Given the description of an element on the screen output the (x, y) to click on. 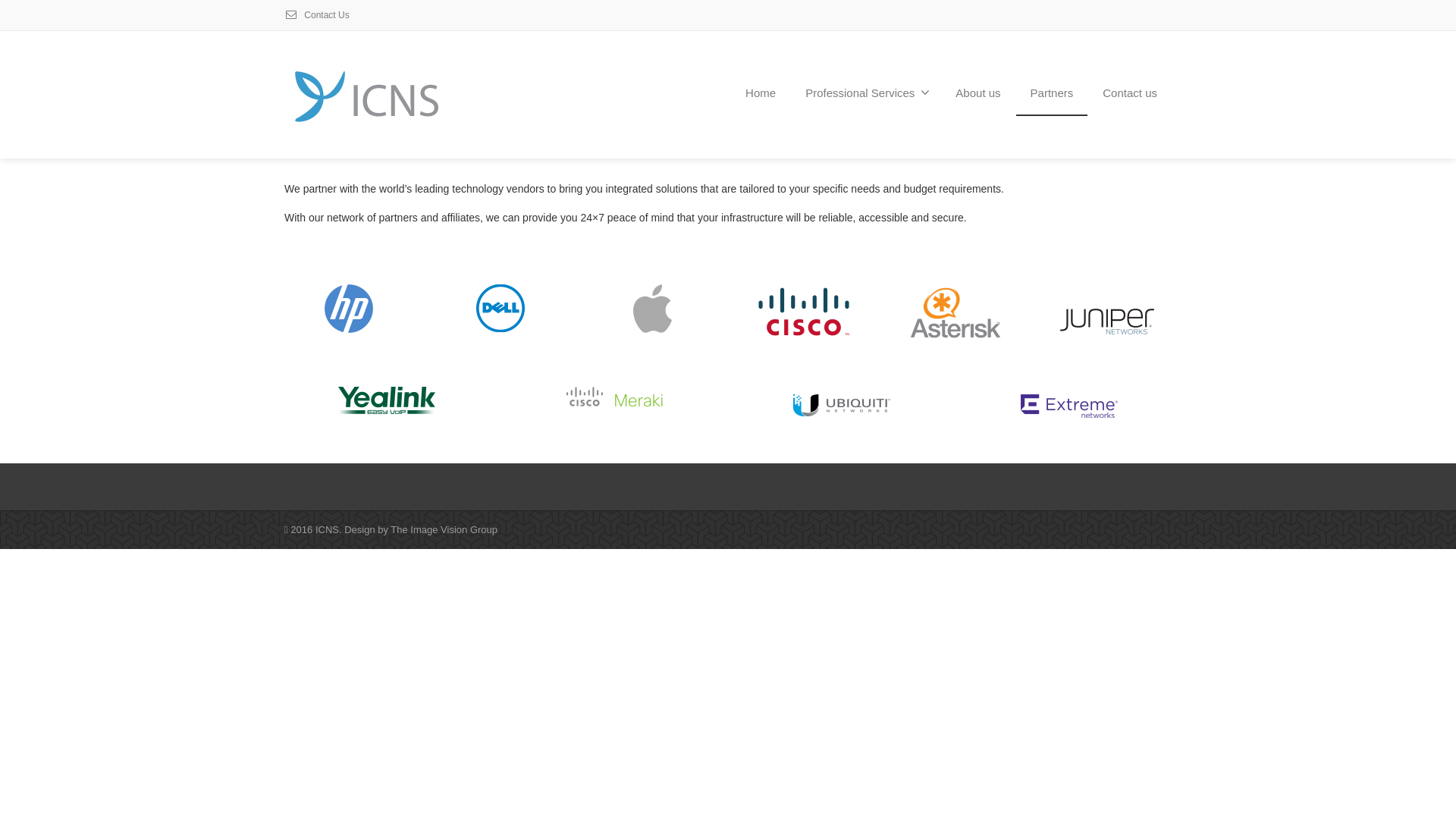
yealink-logo Element type: hover (386, 400)
cisco-meraki Element type: hover (613, 396)
The Image Vision Group Element type: text (443, 529)
About us Element type: text (977, 94)
Extreme_Networks_logo_-_new Element type: hover (1068, 405)
UBNT_Alternate_Logo_RGB Element type: hover (841, 405)
Dell_Logo Element type: hover (500, 308)
Professional Services Element type: text (865, 94)
Contact Us Element type: text (316, 14)
2000px-Juniper_Networks_logo Element type: hover (1106, 321)
HP_New_Logo_2D Element type: hover (348, 308)
1000px-Cisco_logo Element type: hover (803, 311)
Partners Element type: text (1052, 94)
Contact us Element type: text (1129, 94)
650px-Asterisk_Logo Element type: hover (955, 312)
Home Element type: text (760, 94)
Apple-logo-GOOD Element type: hover (651, 308)
